Given the description of an element on the screen output the (x, y) to click on. 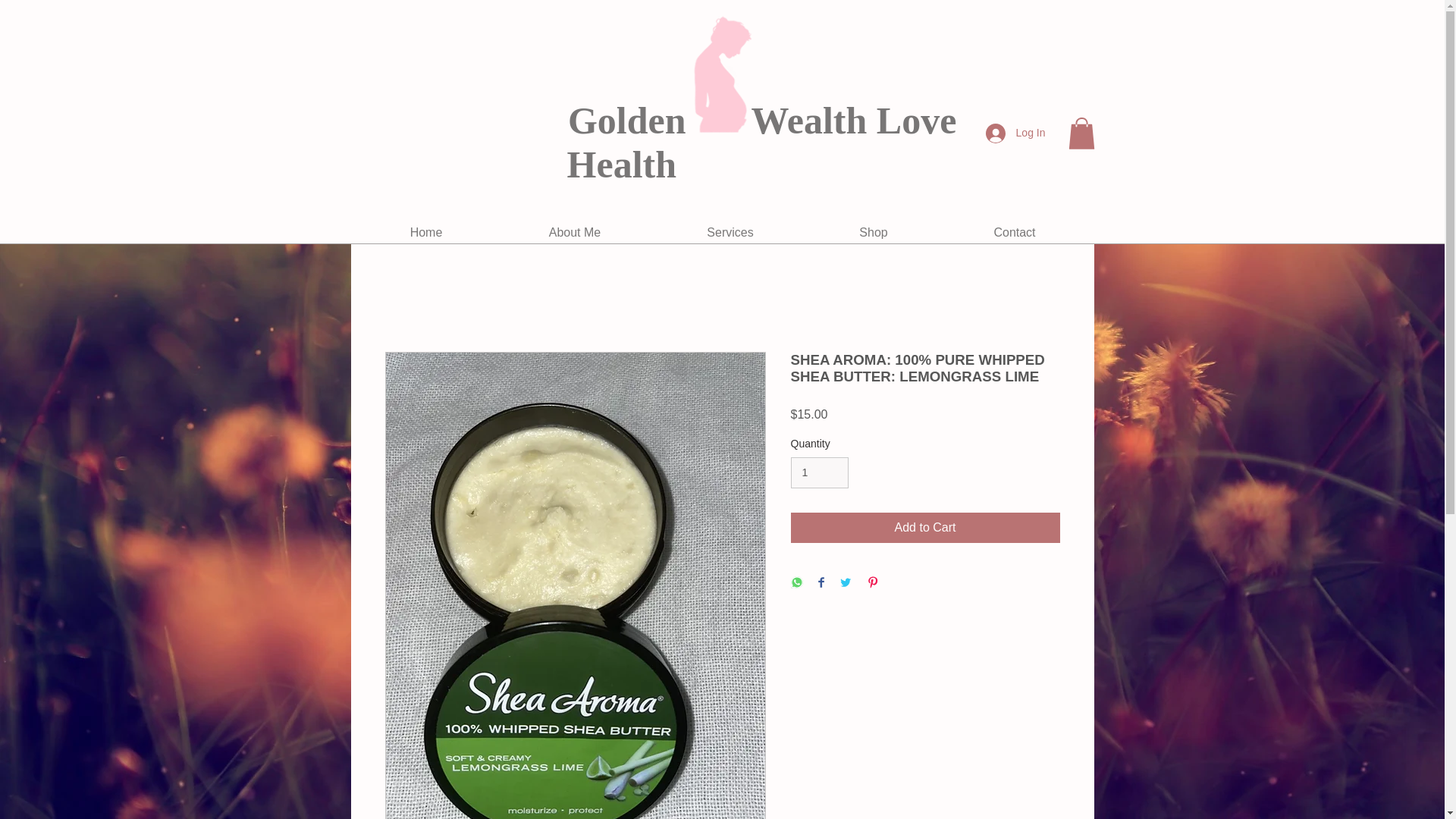
Services (729, 232)
Log In (1016, 133)
Add to Cart (924, 527)
Home (425, 232)
Shop (873, 232)
Contact (1013, 232)
1 (818, 472)
About Me (574, 232)
